Given the description of an element on the screen output the (x, y) to click on. 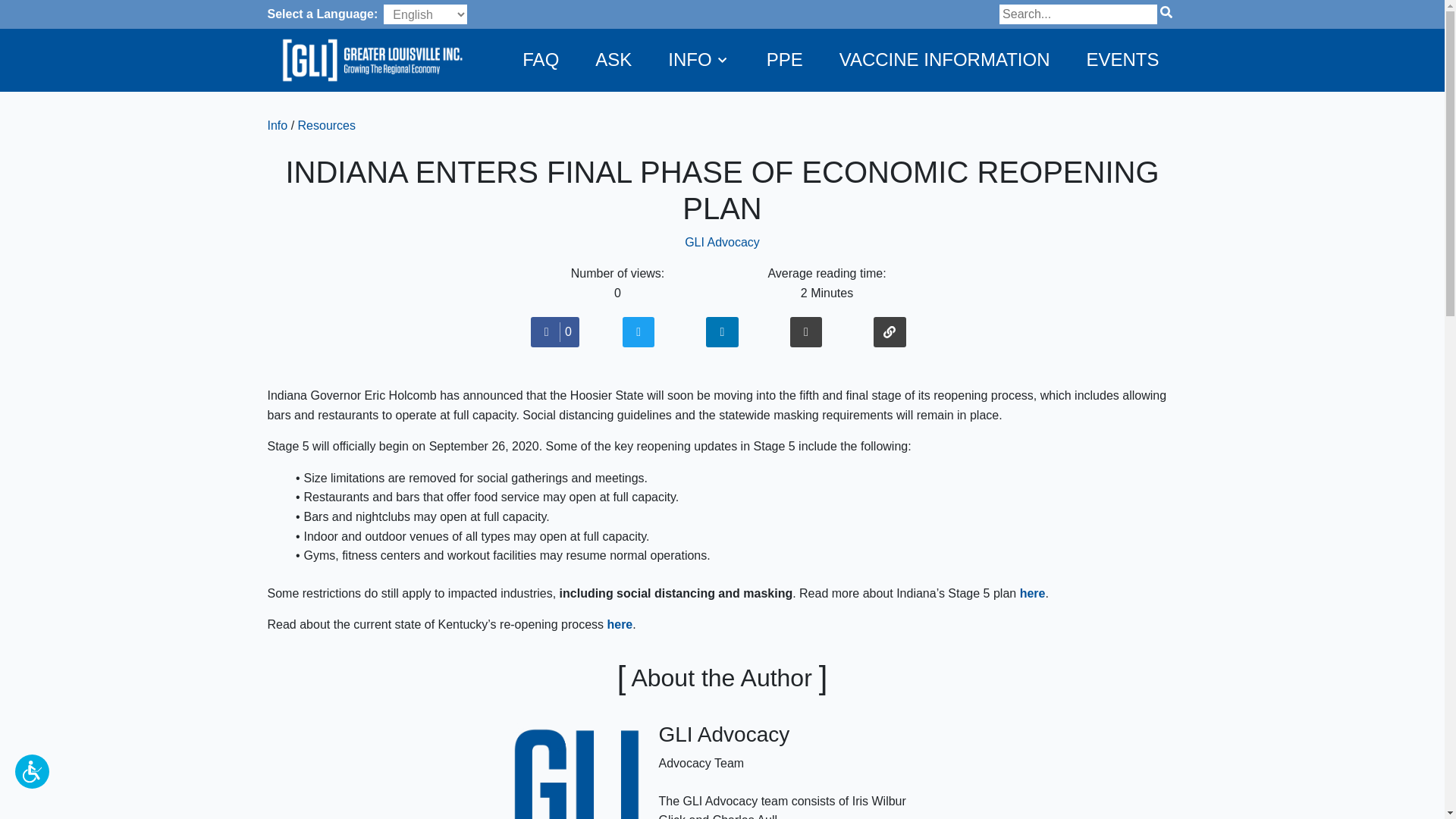
View Count (617, 282)
Share to LinkedIn (720, 331)
VACCINE INFORMATION (944, 59)
INFO (698, 59)
Share to Twitter (637, 331)
ASK (612, 59)
GLI Advocacy (722, 241)
Info (276, 124)
FAQ (539, 59)
Share via Email (805, 331)
EVENTS (1121, 59)
Average Read Time (826, 282)
Share via Link (889, 331)
PPE (784, 59)
here (619, 624)
